Given the description of an element on the screen output the (x, y) to click on. 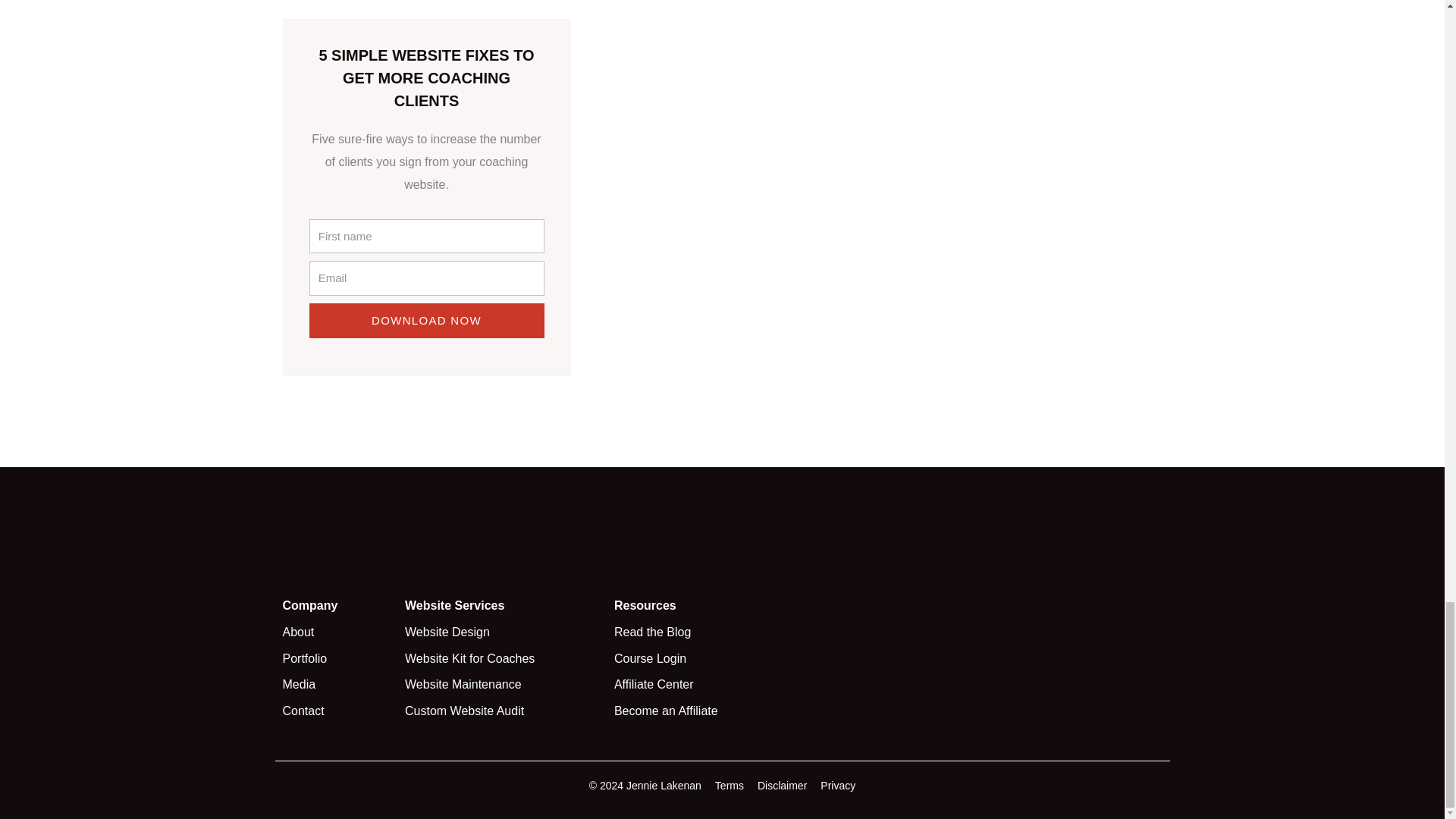
Read the Blog (700, 631)
Course Login (700, 658)
Portfolio (343, 658)
Contact (343, 711)
About (343, 631)
Affiliate Center (700, 684)
Website Maintenance (509, 684)
DOWNLOAD NOW (426, 320)
Custom Website Audit (509, 711)
Website Design (509, 631)
Media (343, 684)
Website Kit for Coaches (509, 658)
